Given the description of an element on the screen output the (x, y) to click on. 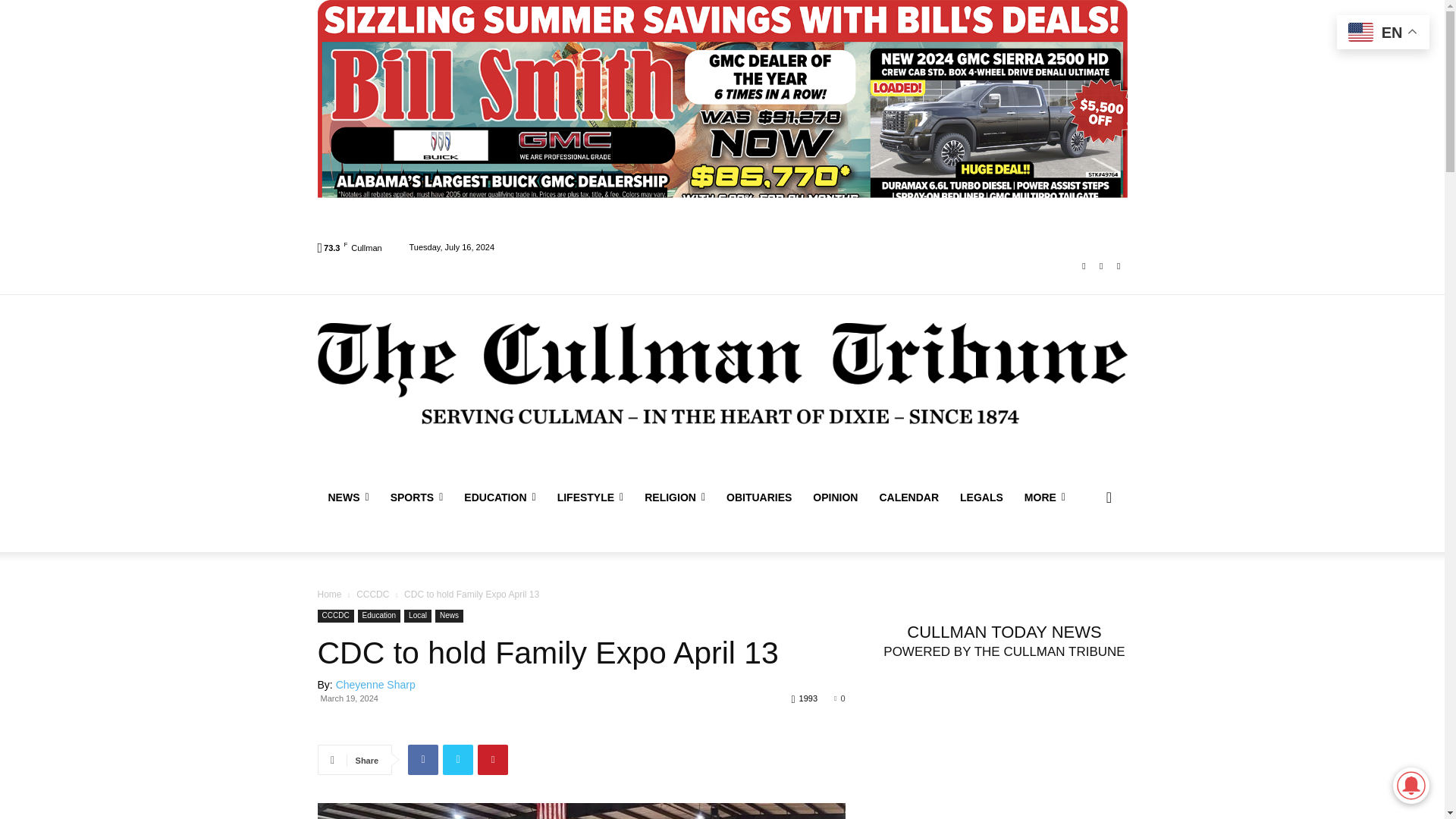
Instagram (1101, 266)
Twitter (1117, 266)
Facebook (1084, 266)
